Given the description of an element on the screen output the (x, y) to click on. 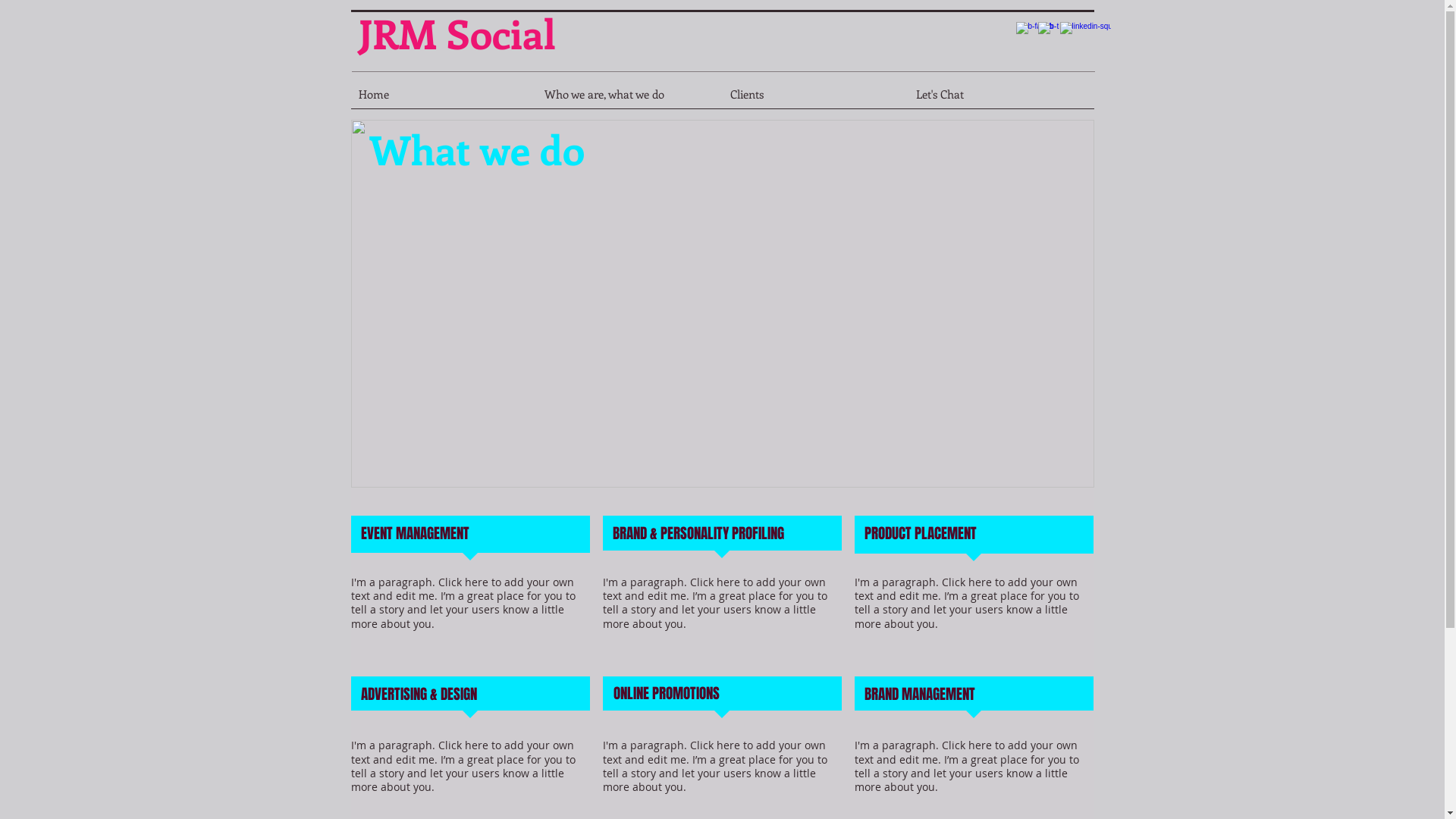
Clients Element type: text (814, 99)
Who we are, what we do Element type: text (629, 99)
Facebook Like Element type: hover (912, 37)
Home Element type: text (443, 99)
Let's Chat Element type: text (1001, 99)
